Given the description of an element on the screen output the (x, y) to click on. 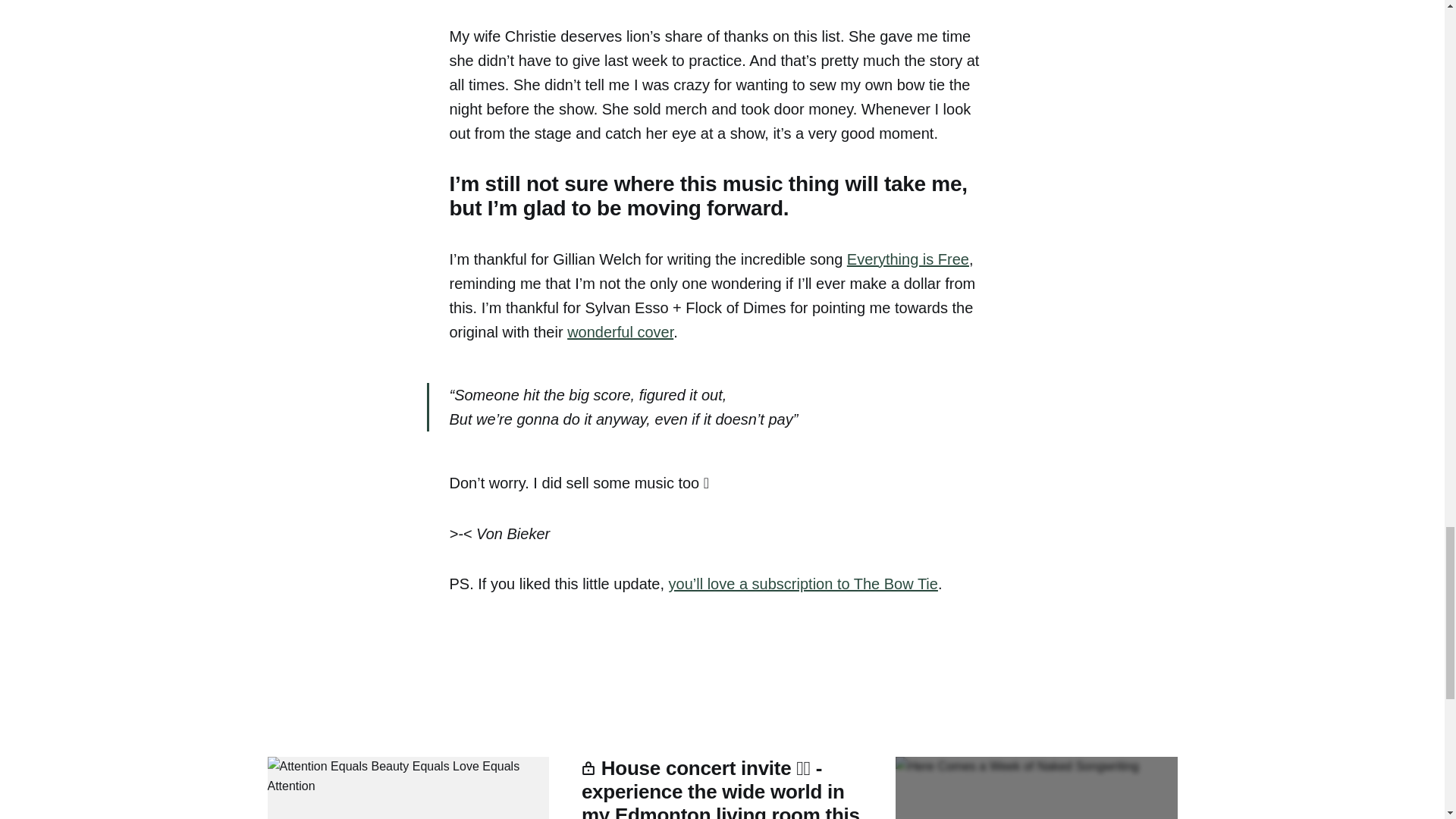
wonderful cover (619, 331)
Everything is Free (908, 258)
Members only (1035, 787)
